Given the description of an element on the screen output the (x, y) to click on. 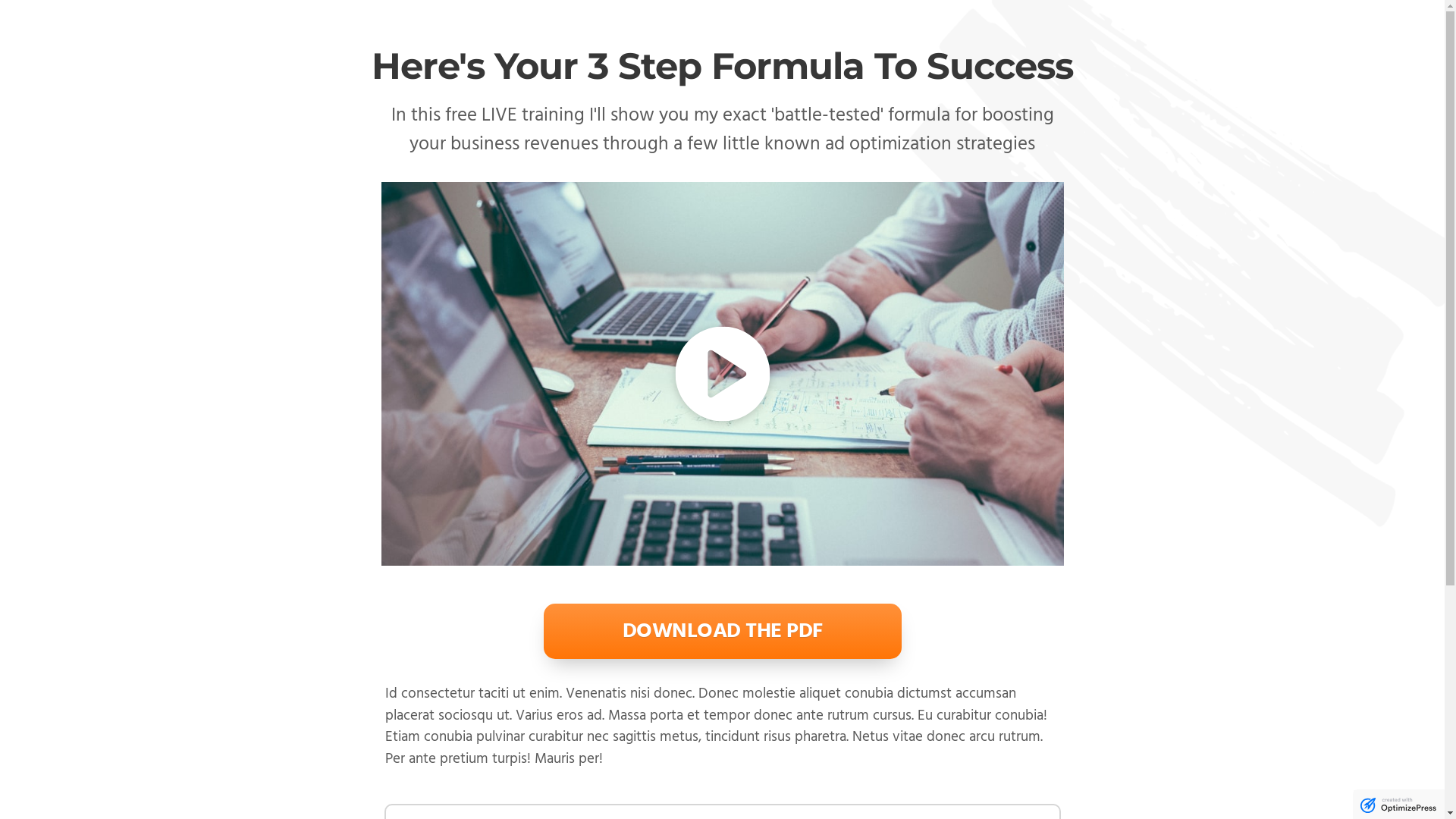
DOWNLOAD THE PDF Element type: text (721, 630)
